Given the description of an element on the screen output the (x, y) to click on. 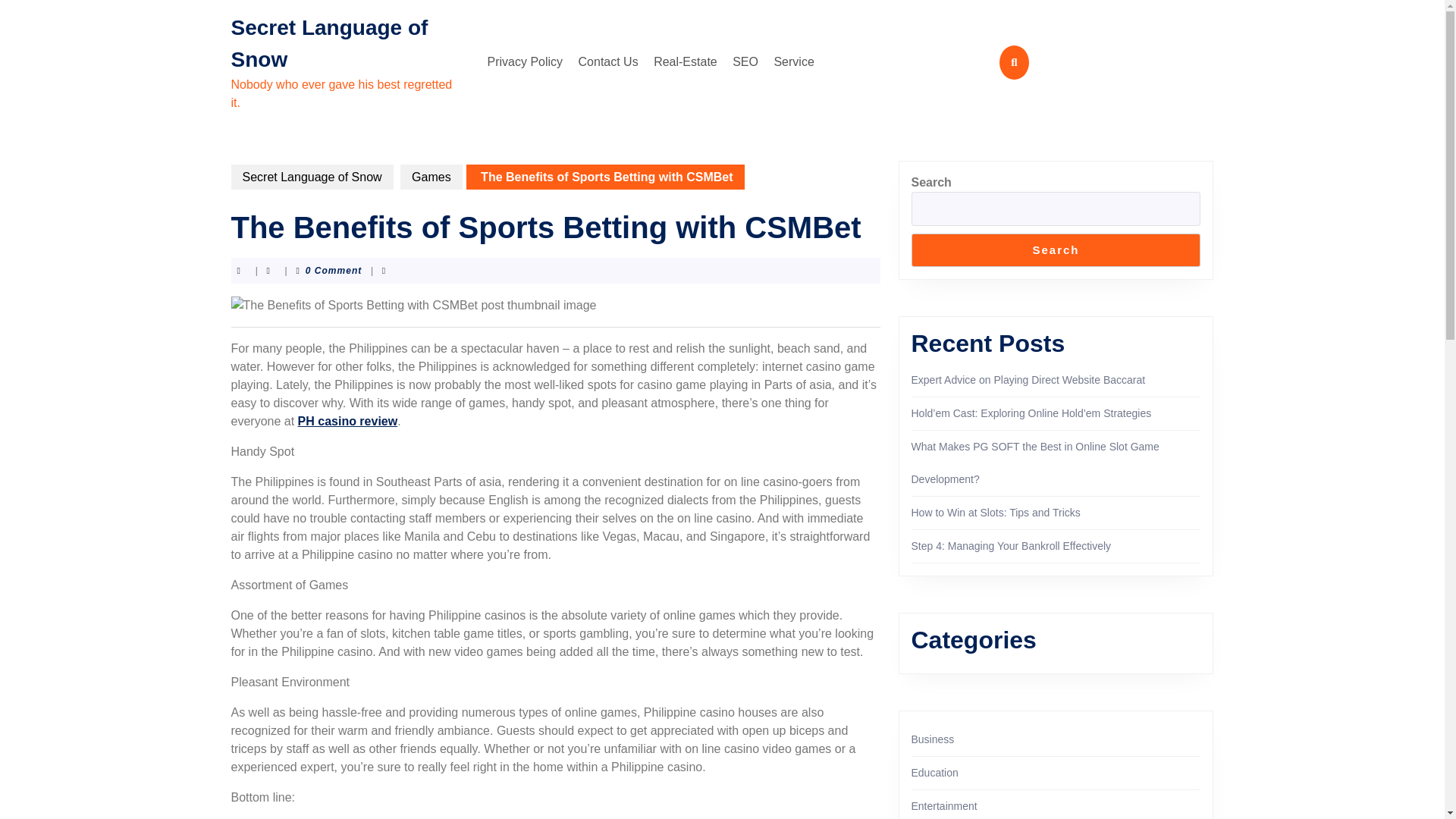
SEO (745, 61)
Expert Advice on Playing Direct Website Baccarat (1028, 379)
Real-Estate (685, 61)
PH casino review (347, 420)
Secret Language of Snow (311, 176)
Education (934, 772)
Entertainment (943, 806)
Step 4: Managing Your Bankroll Effectively (1011, 545)
Service (793, 61)
Privacy Policy (524, 61)
